Given the description of an element on the screen output the (x, y) to click on. 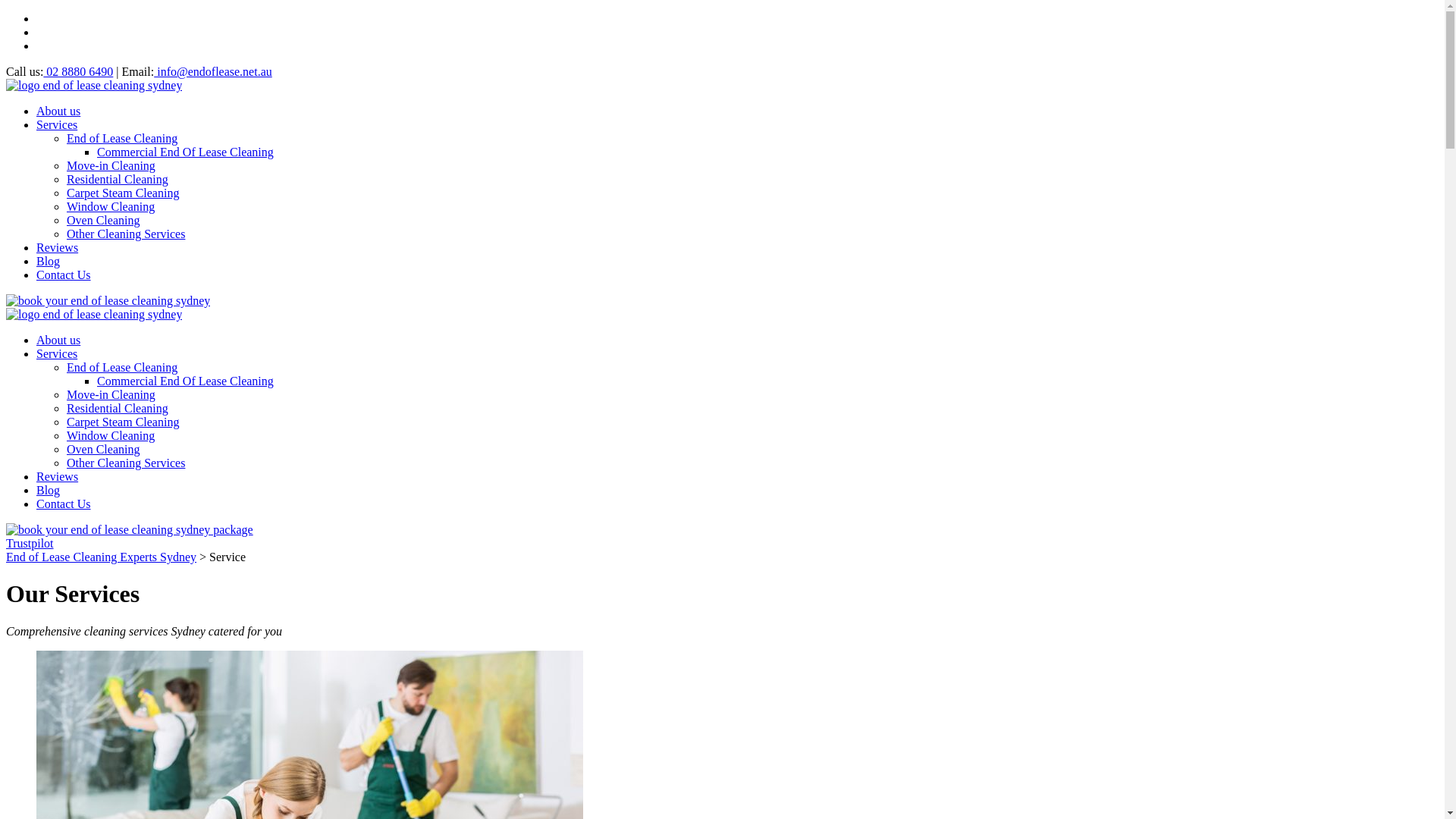
Residential Cleaning Element type: text (117, 178)
Move-in Cleaning Element type: text (110, 165)
Other Cleaning Services Element type: text (125, 462)
Residential Cleaning Element type: text (117, 407)
Blog Element type: text (47, 489)
Trustpilot Element type: text (29, 542)
Services Element type: text (56, 124)
Reviews Element type: text (57, 247)
Services Element type: text (56, 353)
End of Lease Cleaning Element type: text (121, 366)
Window Cleaning Element type: text (110, 206)
Reviews Element type: text (57, 476)
Other Cleaning Services Element type: text (125, 233)
Window Cleaning Element type: text (110, 435)
Commercial End Of Lease Cleaning Element type: text (185, 151)
Contact Us Element type: text (63, 503)
Carpet Steam Cleaning Element type: text (122, 192)
Blog Element type: text (47, 260)
Carpet Steam Cleaning Element type: text (122, 421)
About us Element type: text (58, 110)
Move-in Cleaning Element type: text (110, 394)
About us Element type: text (58, 339)
End of Lease Cleaning Experts Sydney Element type: text (101, 556)
02 8880 6490 Element type: text (77, 71)
Oven Cleaning Element type: text (102, 448)
info@endoflease.net.au Element type: text (212, 71)
Commercial End Of Lease Cleaning Element type: text (185, 380)
End of Lease Cleaning Element type: text (121, 137)
Oven Cleaning Element type: text (102, 219)
Contact Us Element type: text (63, 274)
